Given the description of an element on the screen output the (x, y) to click on. 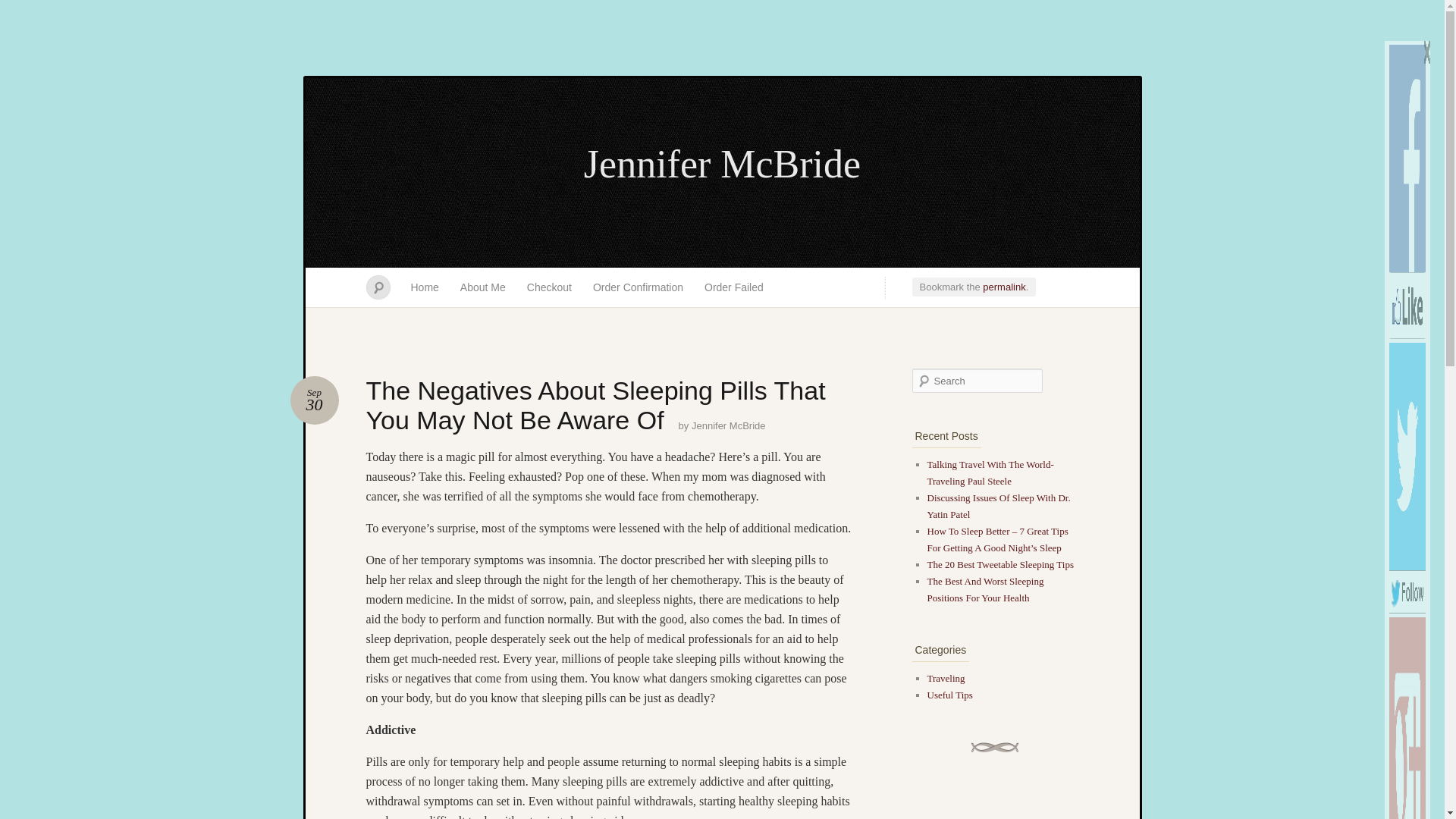
Order Confirmation (638, 287)
Order Failed (734, 287)
The Best And Worst Sleeping Positions For Your Health (984, 589)
Talking Travel With The World-Traveling Paul Steele (989, 472)
Jennifer McBride (313, 400)
Search (721, 165)
permalink (21, 7)
Checkout (1003, 286)
hide (549, 287)
Add Me On Facebook (1426, 51)
View all posts by Jennifer McBride (1407, 158)
Discussing Issues Of Sleep With Dr. Yatin Patel (728, 425)
The 20 Best Tweetable Sleeping Tips (998, 506)
